Given the description of an element on the screen output the (x, y) to click on. 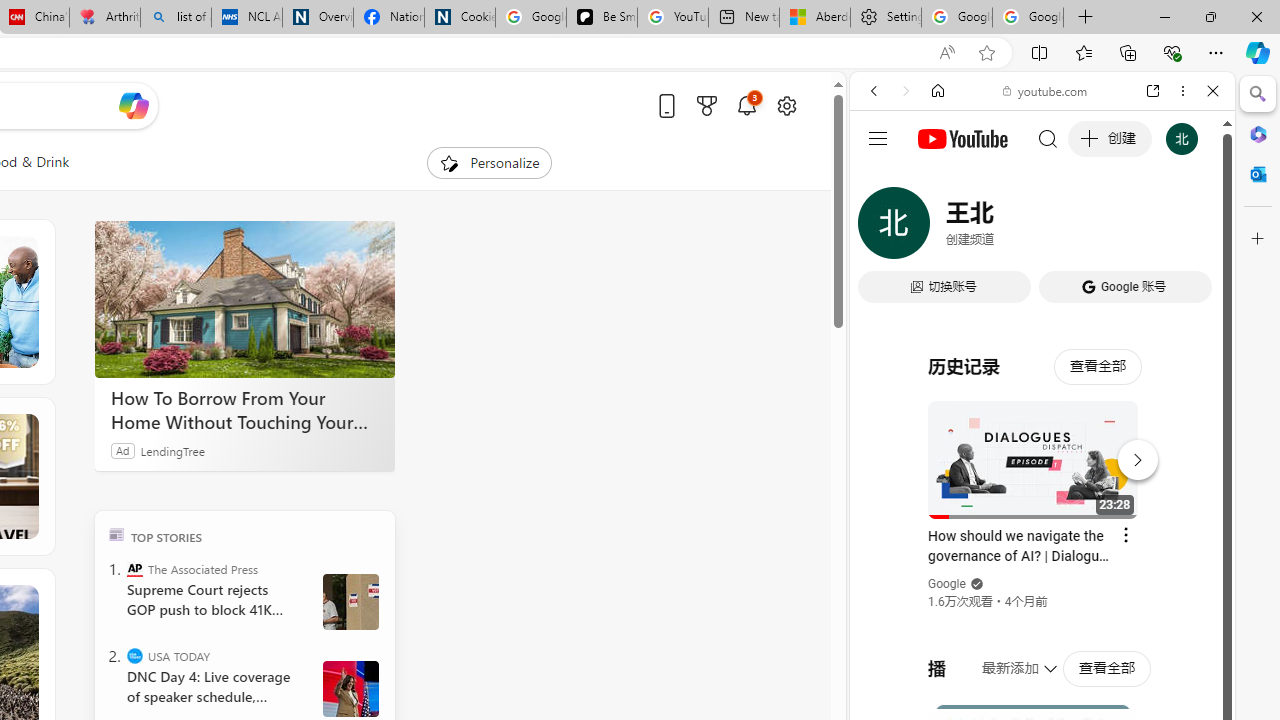
Personalize (488, 162)
How To Borrow From Your Home Without Touching Your Mortgage (244, 409)
#you (1042, 445)
Music (1042, 543)
